Given the description of an element on the screen output the (x, y) to click on. 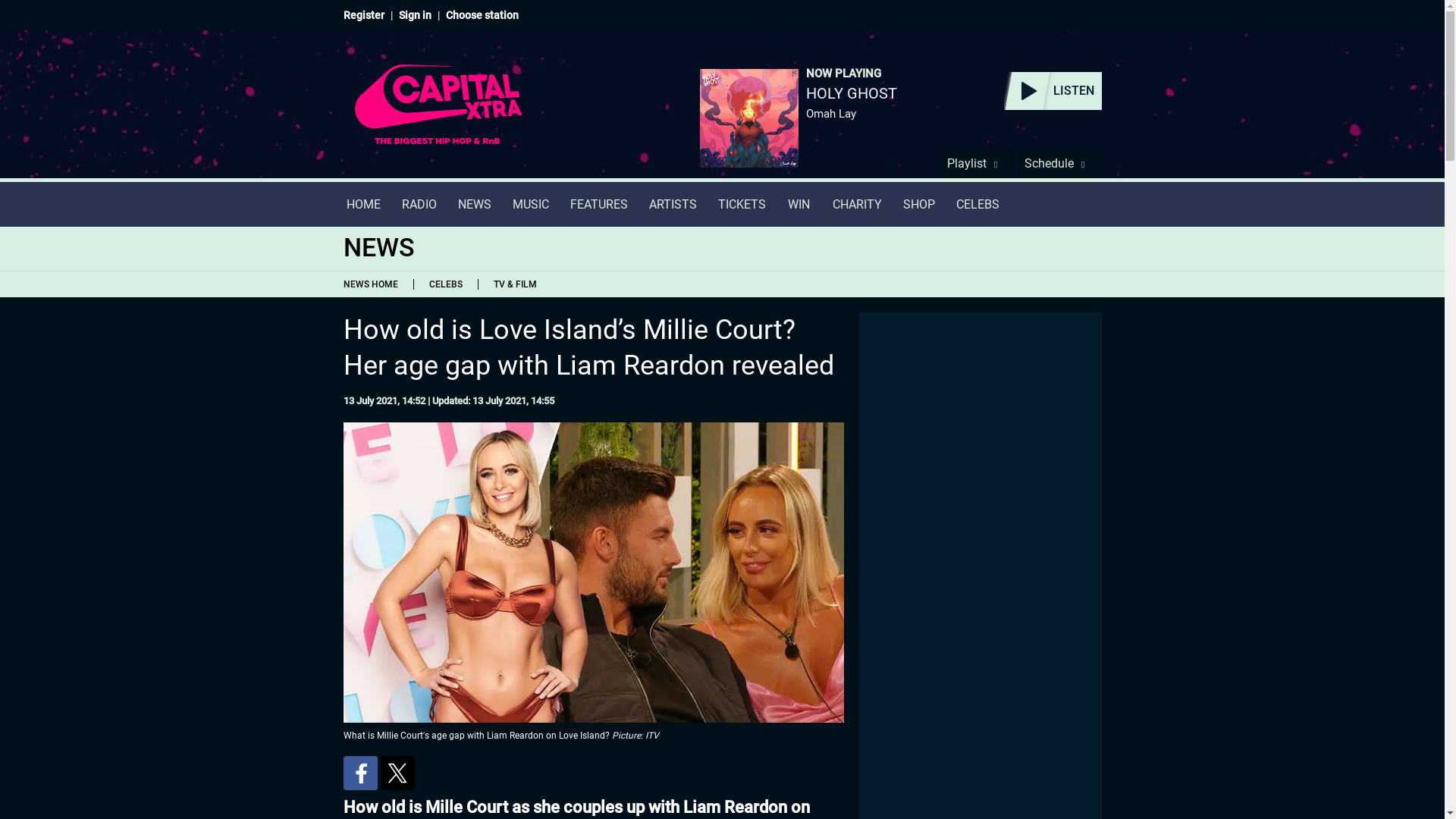
HOME (362, 203)
ARTISTS (673, 203)
Schedule (1058, 163)
CHARITY (857, 203)
FEATURES (599, 203)
Sign in (414, 15)
LISTEN (1053, 90)
Capital XTRA (437, 113)
RADIO (418, 203)
Choose station (481, 15)
Register (363, 15)
TICKETS (741, 203)
NEWS HOME (373, 284)
MUSIC (530, 203)
